Given the description of an element on the screen output the (x, y) to click on. 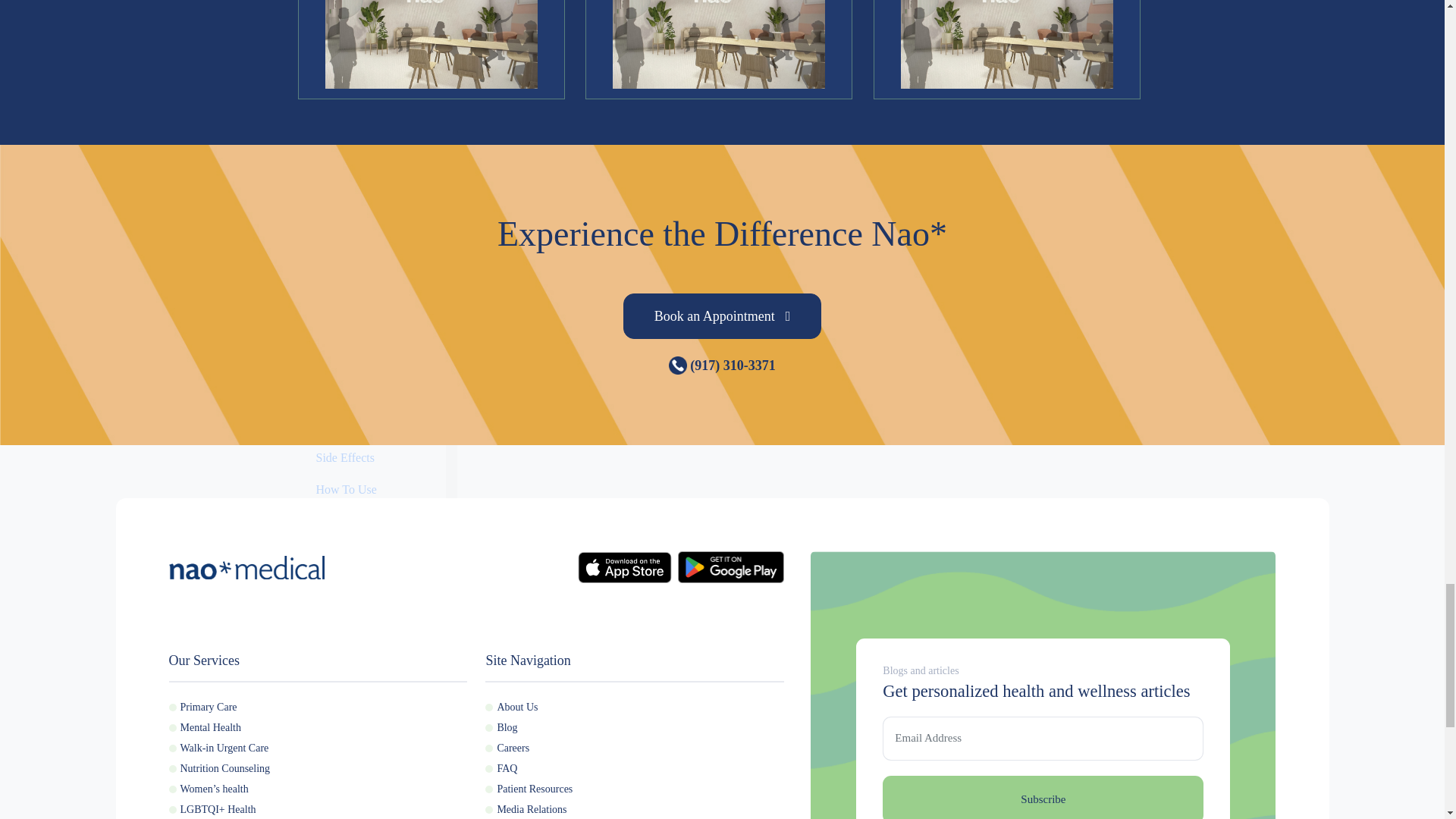
Subscribe (1043, 797)
